Given the description of an element on the screen output the (x, y) to click on. 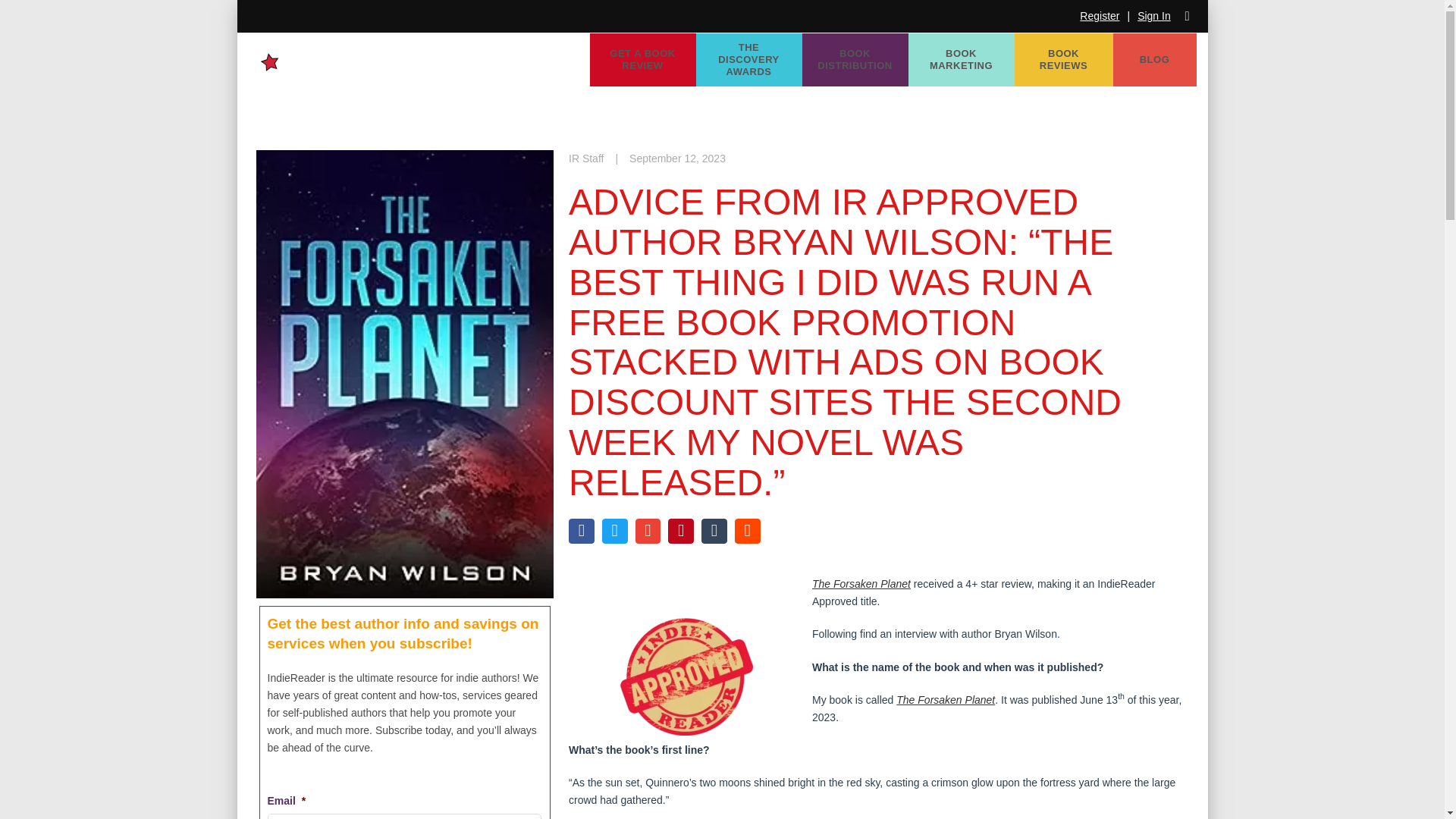
The Forsaken Planet (945, 699)
BOOK REVIEWS (1063, 59)
The Forsaken Planet (861, 583)
Register (1099, 16)
THE DISCOVERY AWARDS (748, 59)
Sign In (1153, 16)
BOOK DISTRIBUTION (855, 59)
BLOG (1154, 59)
BOOK MARKETING (961, 59)
GET A BOOK REVIEW (642, 59)
